Given the description of an element on the screen output the (x, y) to click on. 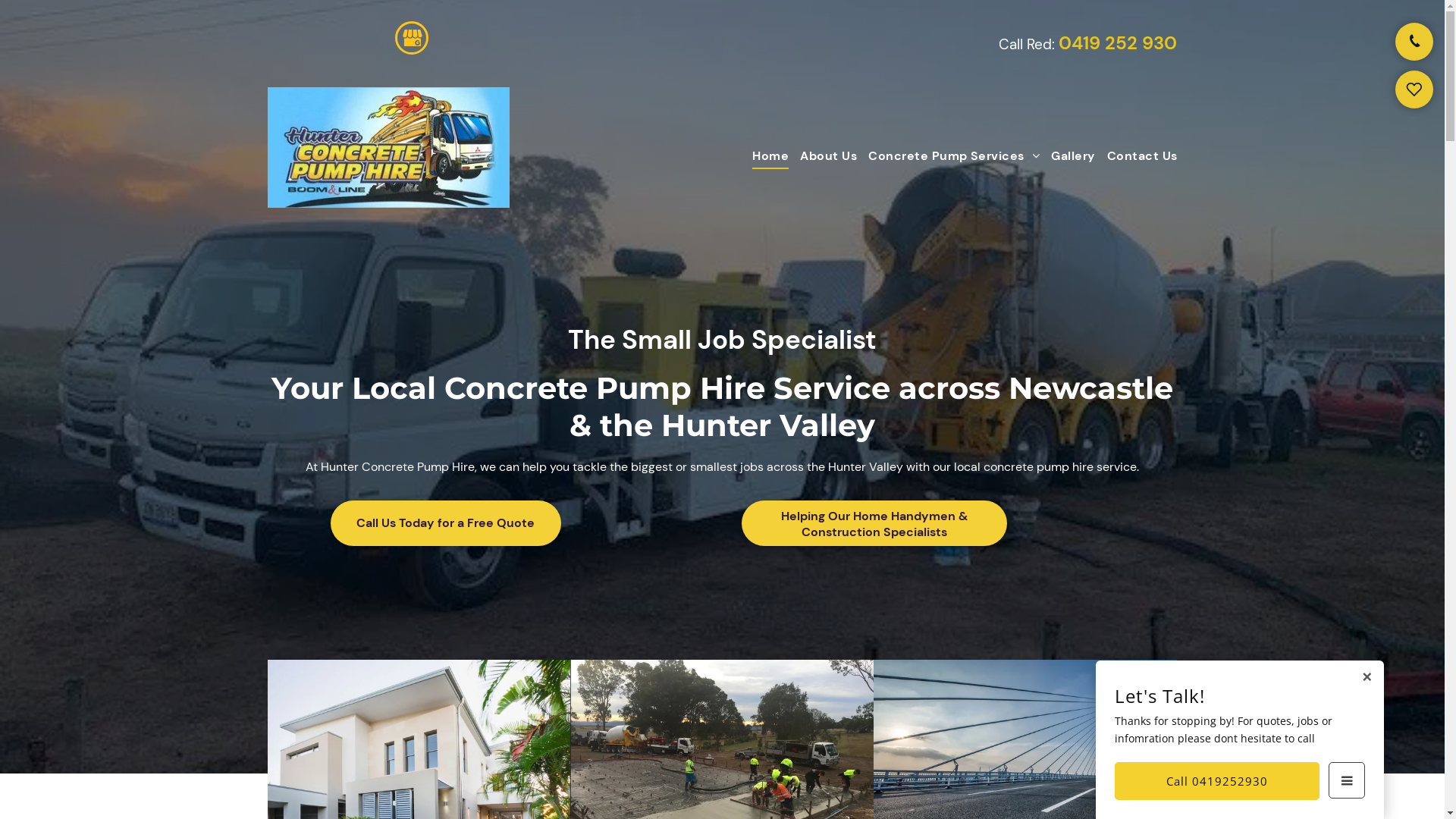
About Us Element type: text (822, 156)
0419 252 930 Element type: text (1117, 42)
Helping Our Home Handymen & Construction Specialists Element type: text (874, 523)
Concrete Pump Services Element type: text (947, 156)
Home Element type: text (764, 156)
Call Us Today for a Free Quote Element type: text (445, 523)
Hunter Concrete Pump Hire Element type: hover (387, 147)
Call 0419252930 Element type: text (1216, 781)
Gallery Element type: text (1067, 156)
Contact Us Element type: text (1136, 156)
